Given the description of an element on the screen output the (x, y) to click on. 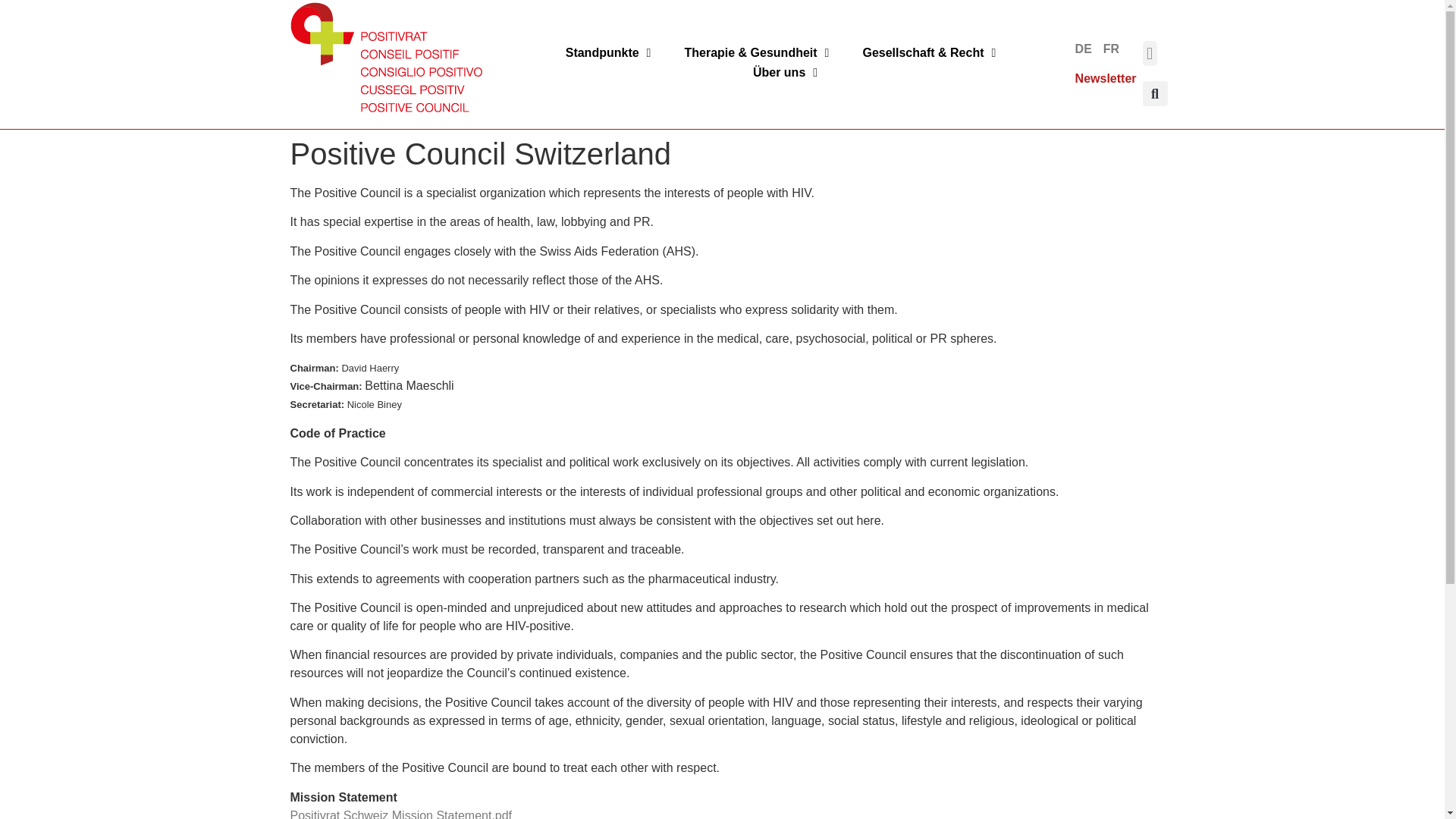
DE (1079, 49)
Newsletter (1105, 78)
Standpunkte (608, 52)
FR (1107, 49)
